Given the description of an element on the screen output the (x, y) to click on. 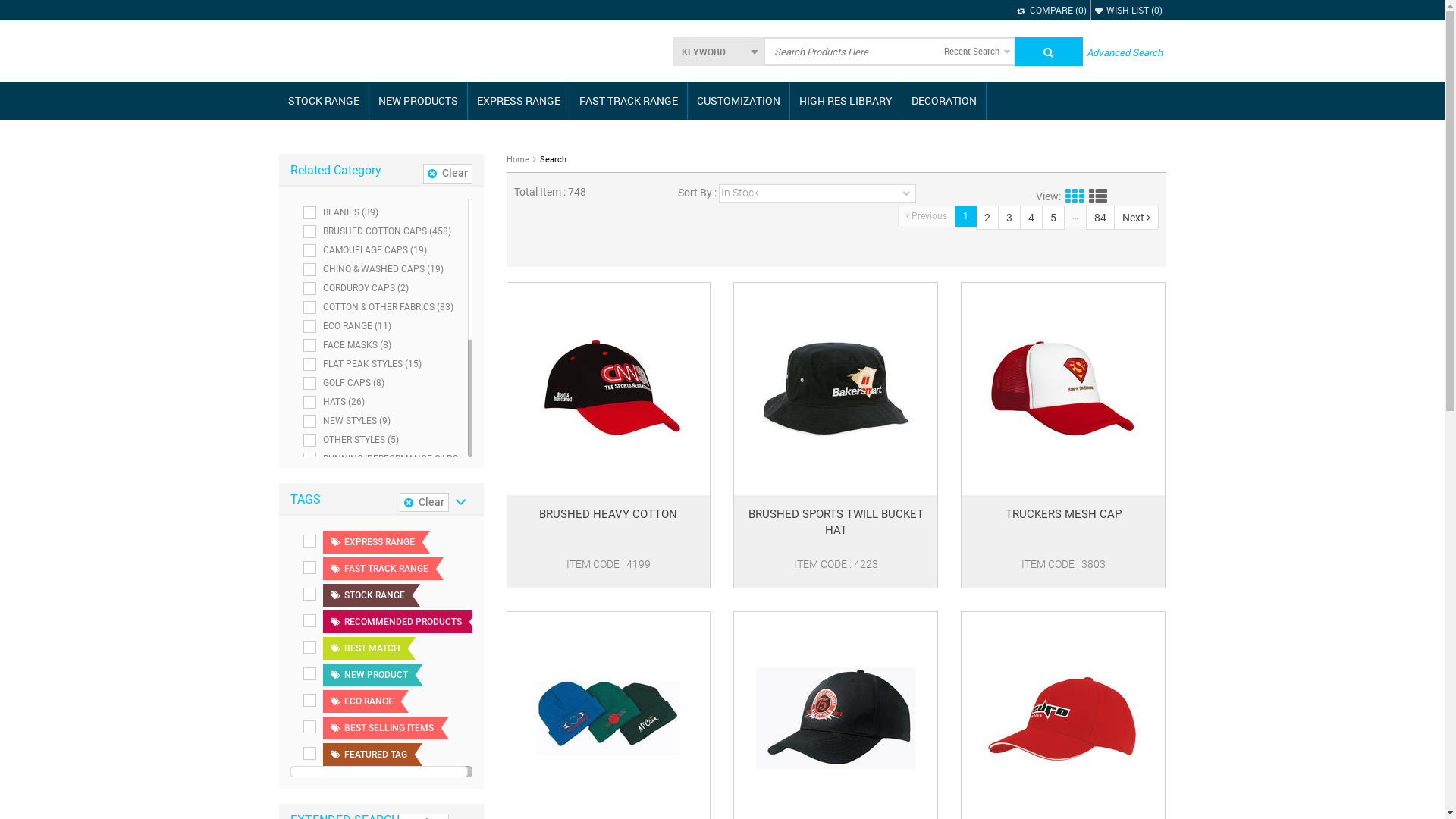
HIGH RES LIBRARY Element type: text (845, 100)
CUSTOMIZATION Element type: text (737, 100)
Recent Search Element type: text (976, 50)
NEW PRODUCTS Element type: text (417, 100)
STOCK RANGE Element type: text (323, 100)
84 Element type: text (1099, 217)
DECORATION Element type: text (943, 100)
Submit Element type: text (1048, 51)
Advanced Search Element type: text (1124, 52)
2 Element type: text (986, 217)
BRUSHED SPORTS TWILL BUCKET HAT Element type: text (835, 531)
4 Element type: text (1030, 217)
Next Element type: text (1135, 217)
TRUCKERS MESH CAP Element type: text (1062, 531)
Home Element type: text (517, 159)
COMPARE (0) Element type: text (1051, 10)
3 Element type: text (1008, 217)
5 Element type: text (1052, 217)
Clear Element type: text (423, 501)
FAST TRACK RANGE Element type: text (628, 100)
Clear Element type: text (447, 172)
BRUSHED HEAVY COTTON Element type: text (607, 531)
WISH LIST (0) Element type: text (1127, 10)
EXPRESS RANGE Element type: text (517, 100)
